Given the description of an element on the screen output the (x, y) to click on. 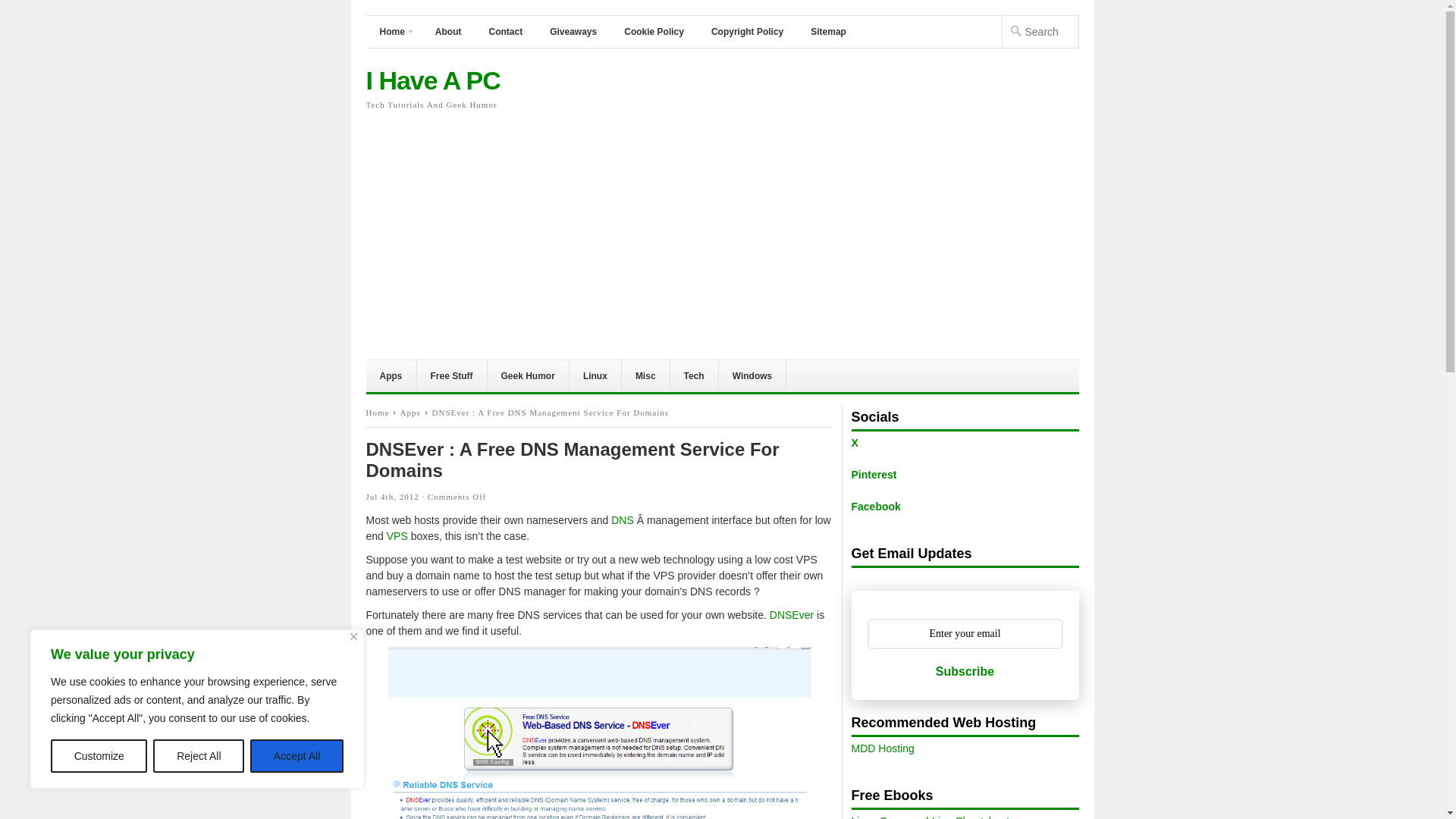
Customize (98, 756)
Misc (645, 376)
Windows (753, 376)
Reject All (198, 756)
Apps (390, 376)
Linux (595, 376)
Sitemap (828, 31)
dnsever0 (599, 733)
Cookie Policy (653, 31)
Tech (694, 376)
Giveaways (572, 31)
Contact (504, 31)
VPS (397, 535)
Free Stuff (451, 376)
Geek Humor (528, 376)
